Given the description of an element on the screen output the (x, y) to click on. 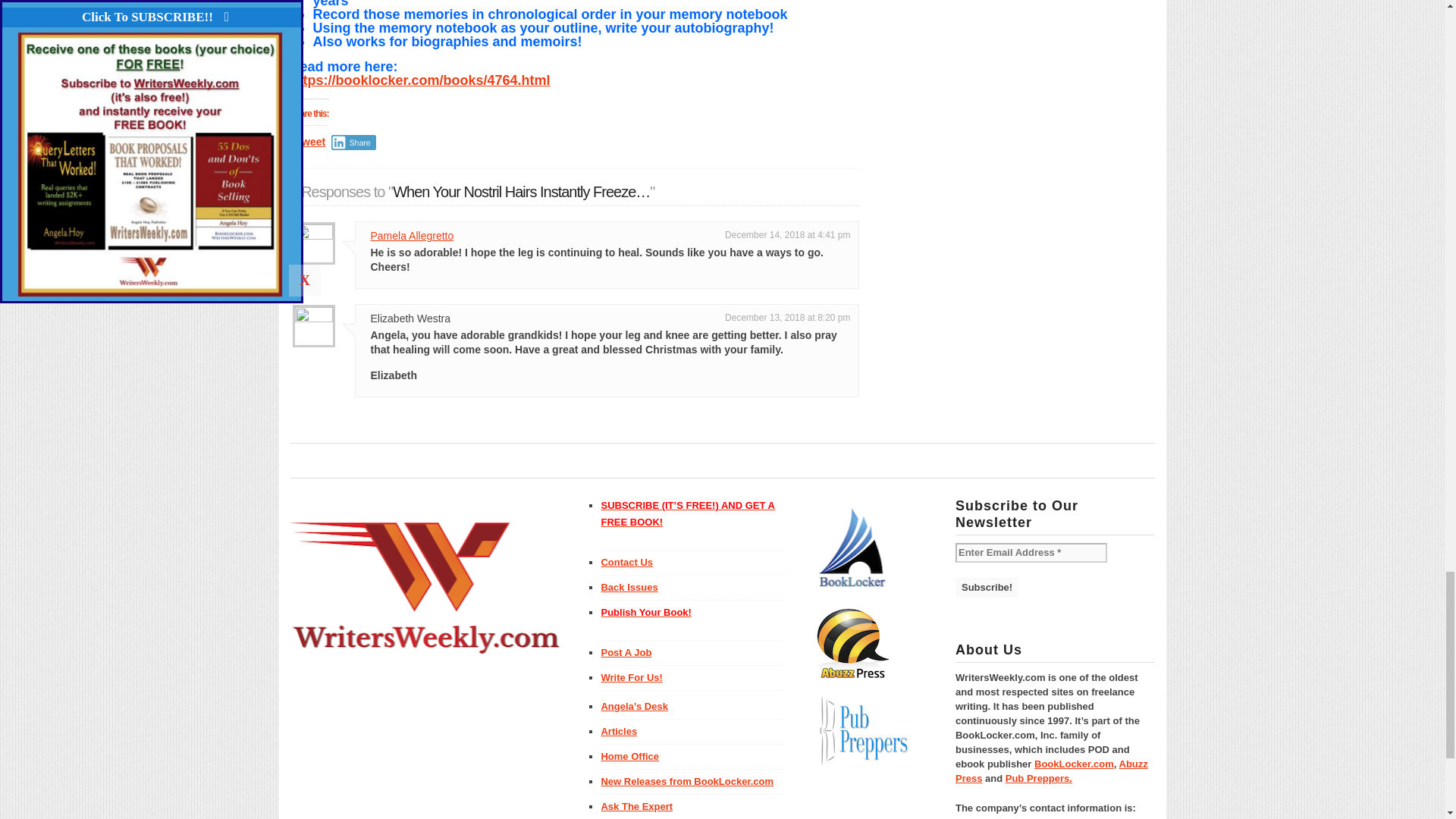
Enter Email Address (1030, 552)
Subscribe! (986, 587)
